Given the description of an element on the screen output the (x, y) to click on. 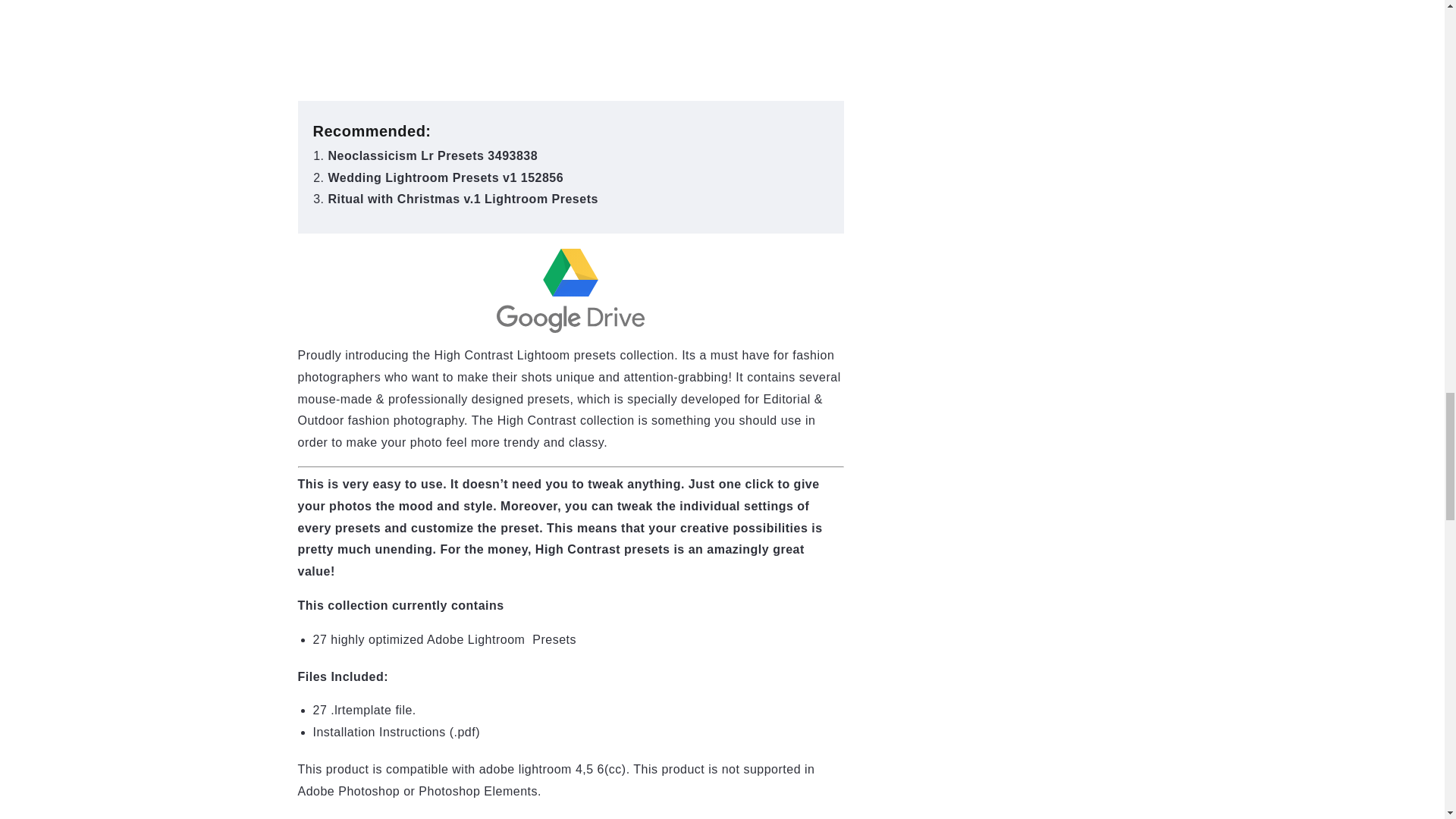
Neoclassicism Lr Presets 3493838 (432, 155)
Neoclassicism Lr Presets 3493838 (432, 155)
Wedding Lightroom Presets v1 152856 (445, 177)
Ritual with Christmas v.1 Lightroom Presets (461, 198)
Wedding Lightroom Presets v1 152856 (445, 177)
Ritual with Christmas v.1 Lightroom Presets (461, 198)
High Contrast Lightroom Presets 2 (570, 290)
